Given the description of an element on the screen output the (x, y) to click on. 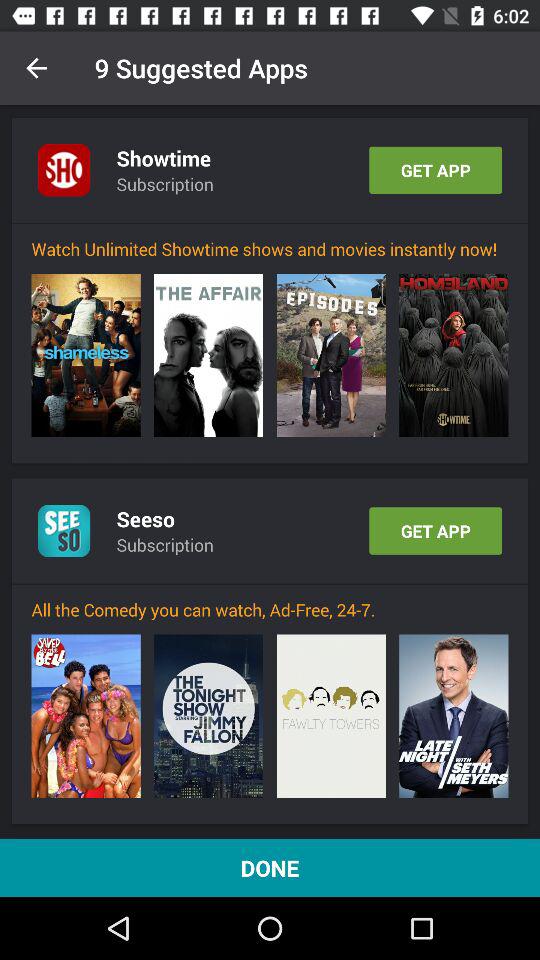
turn off icon at the bottom right corner (453, 716)
